Given the description of an element on the screen output the (x, y) to click on. 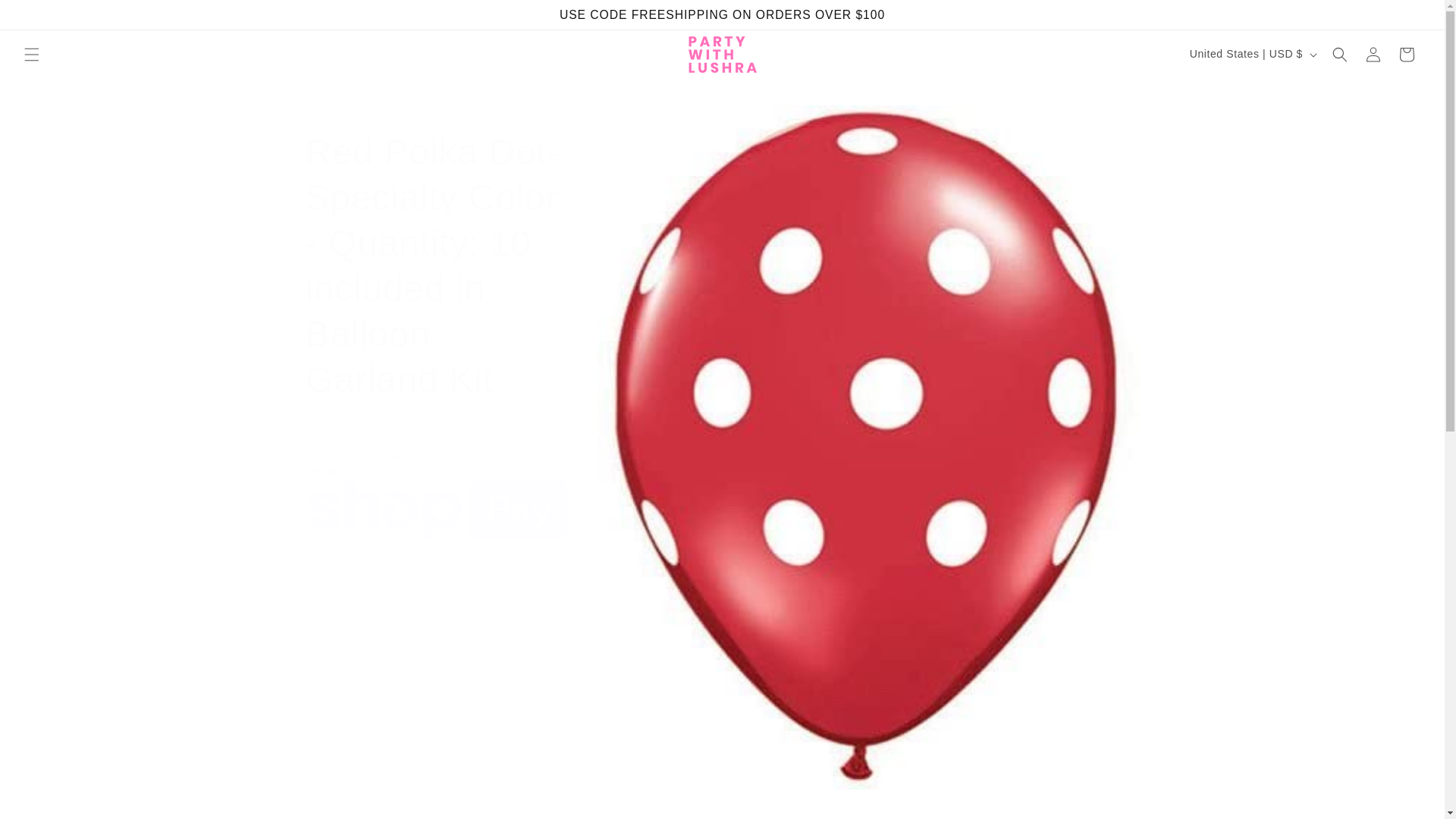
1 (358, 610)
Cart (1406, 54)
Log in (1373, 54)
Skip to product information (641, 122)
Skip to content (45, 17)
